Given the description of an element on the screen output the (x, y) to click on. 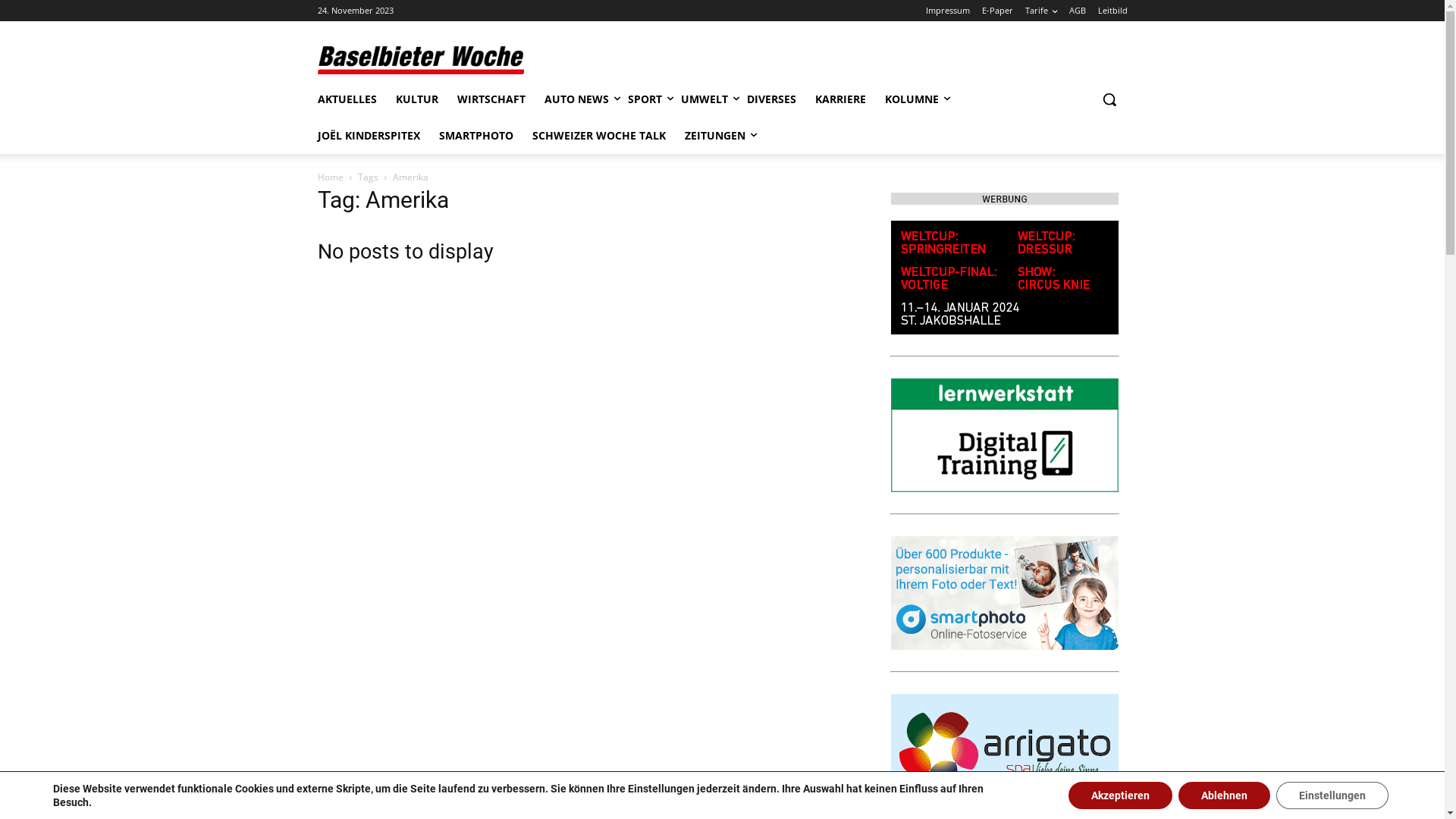
Tarife Element type: text (1041, 10)
AKTUELLES Element type: text (346, 99)
Home Element type: text (329, 176)
AGB Element type: text (1077, 10)
Arrigato GmbH Element type: hover (1003, 750)
Lernwerkstatt Element type: hover (1003, 435)
AUTO NEWS Element type: text (576, 99)
SCHWEIZER WOCHE TALK Element type: text (598, 135)
E-Paper Element type: text (996, 10)
smartphoto Element type: hover (1003, 592)
KULTUR Element type: text (416, 99)
Einstellungen Element type: text (1332, 795)
Ablehnen Element type: text (1224, 795)
KARRIERE Element type: text (839, 99)
ZEITUNGEN Element type: text (714, 135)
Leitbild Element type: text (1112, 10)
Impressum Element type: text (947, 10)
SMARTPHOTO Element type: text (475, 135)
KOLUMNE Element type: text (911, 99)
LONGINES CHI CLASSICS BASEL Element type: hover (1003, 277)
WIRTSCHAFT Element type: text (490, 99)
SPORT Element type: text (644, 99)
DIVERSES Element type: text (770, 99)
Akzeptieren Element type: text (1120, 795)
UMWELT Element type: text (704, 99)
